Given the description of an element on the screen output the (x, y) to click on. 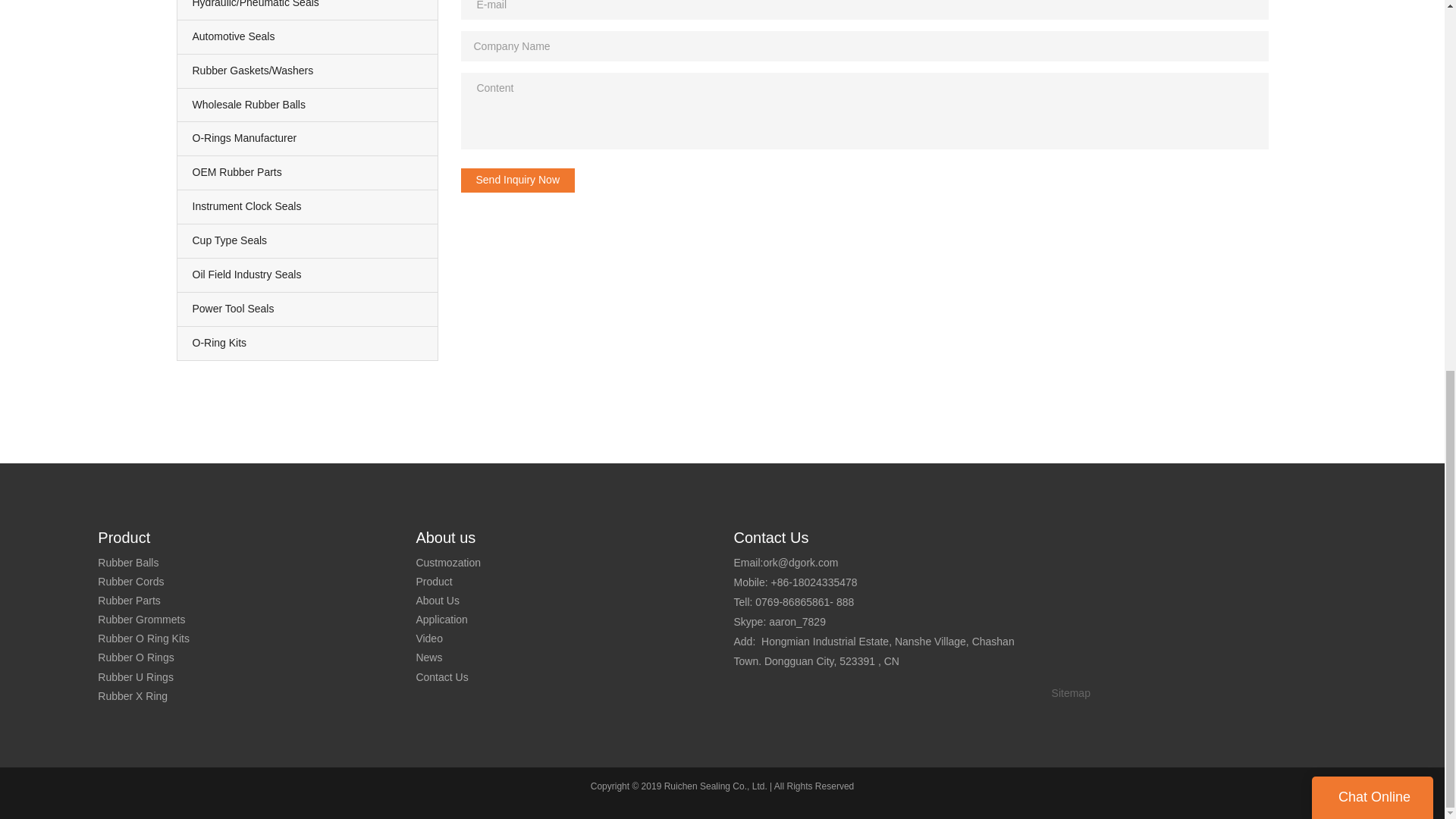
Wholesale Rubber Balls (307, 104)
O-Rings Manufacturer (307, 138)
Automotive Seals (307, 37)
